Given the description of an element on the screen output the (x, y) to click on. 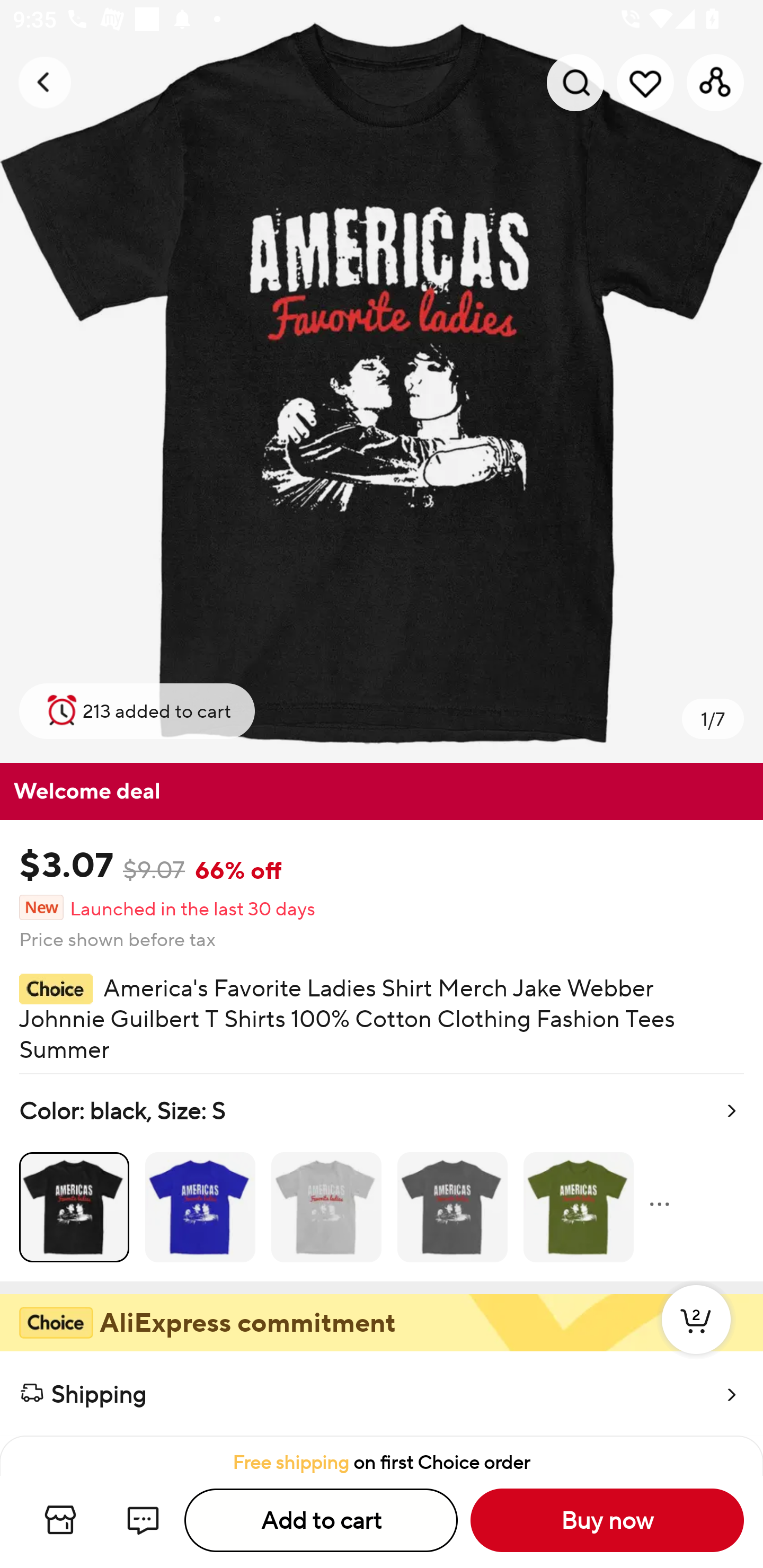
Navigate up (44, 82)
Color: black, Size: S  (381, 1177)
2 (695, 1338)
Shipping  Free shipping  (381, 1393)
Add to cart (320, 1520)
Buy now (606, 1520)
